Given the description of an element on the screen output the (x, y) to click on. 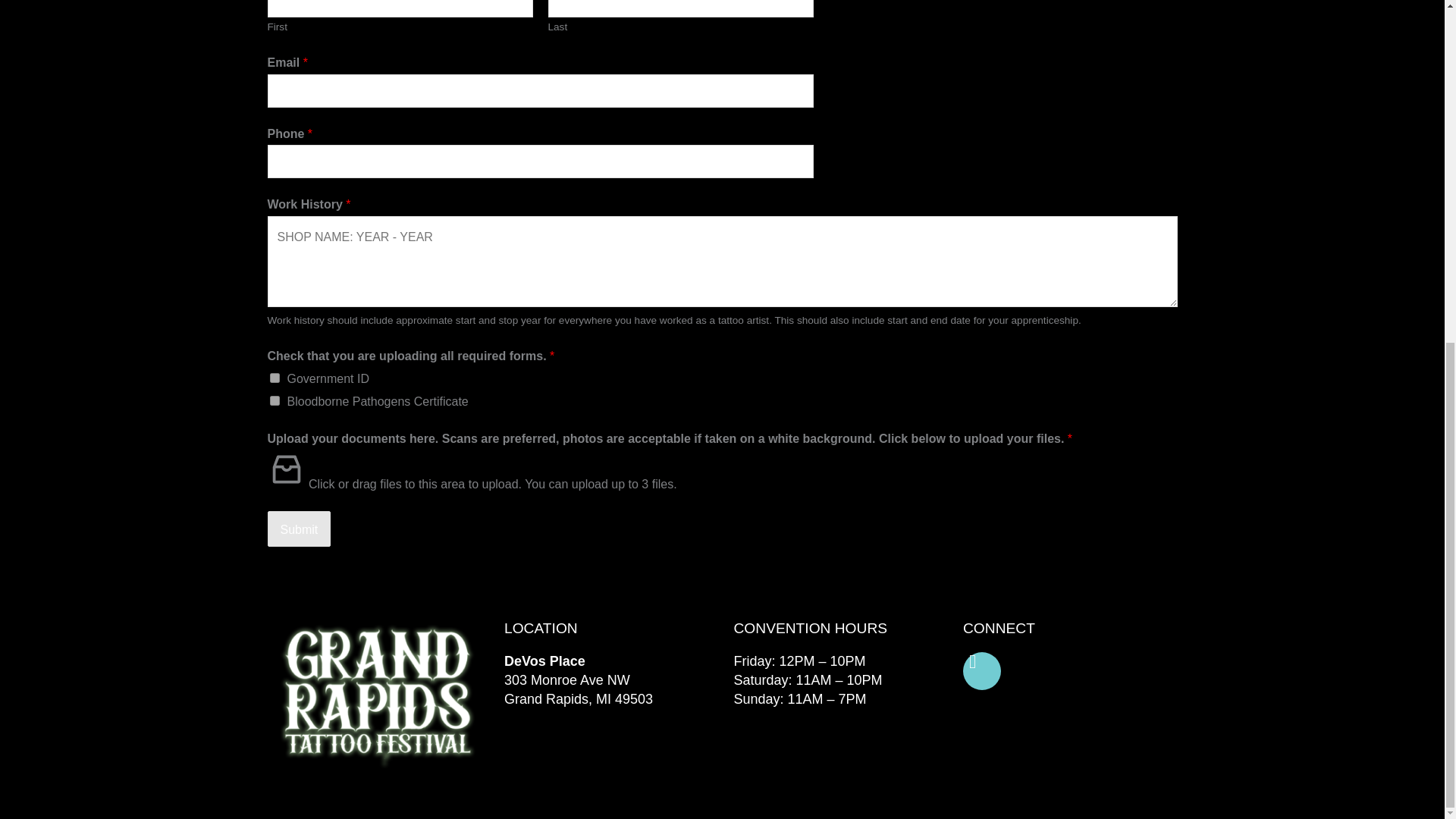
Government ID (274, 378)
Submit (298, 529)
Instagram (981, 670)
Bloodborne Pathogens Certificate (274, 400)
